Given the description of an element on the screen output the (x, y) to click on. 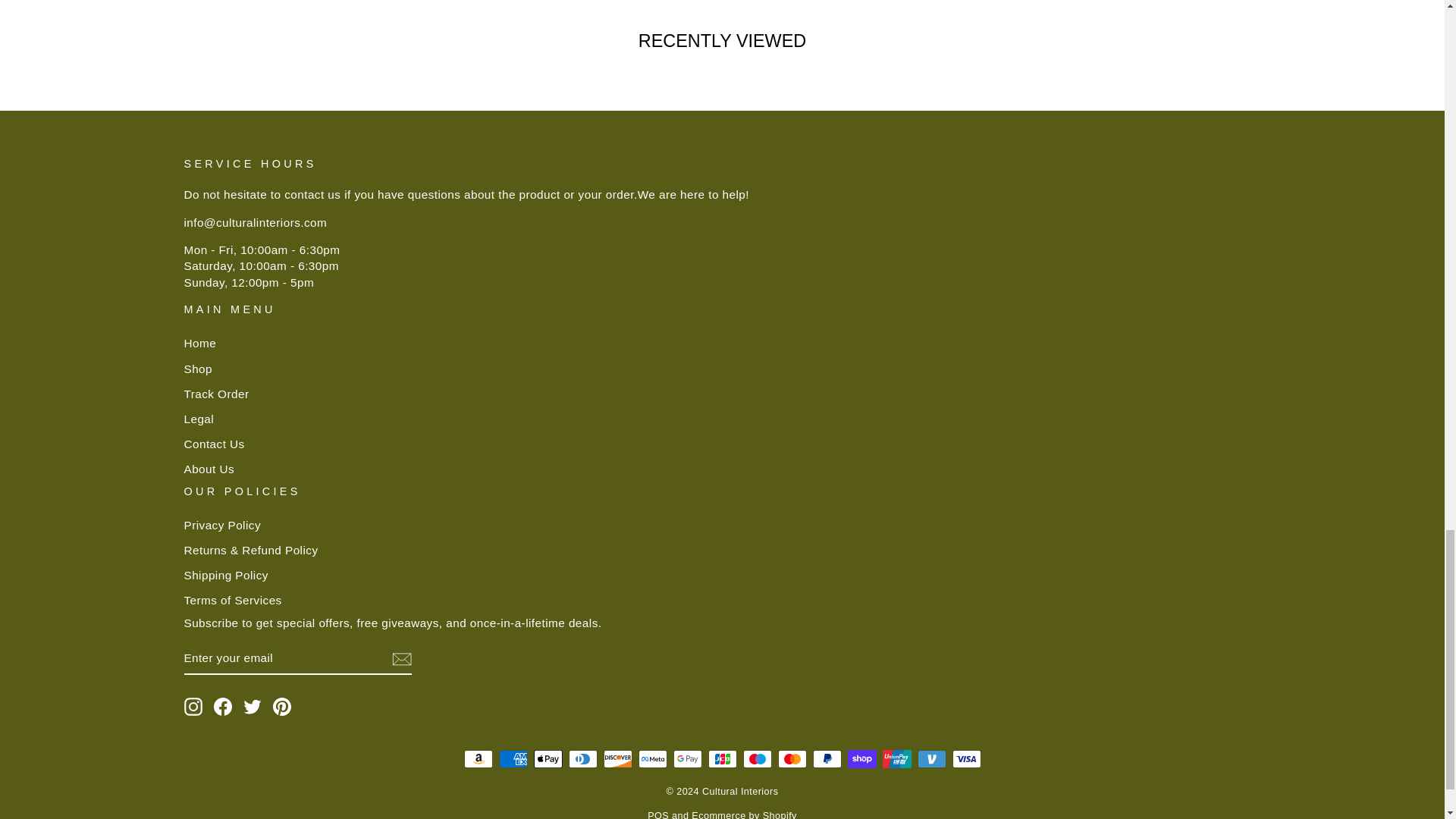
Cultural Interiors on Instagram (192, 706)
Cultural Interiors on Facebook (222, 706)
Cultural Interiors on Twitter (251, 706)
Discover (617, 759)
Apple Pay (548, 759)
Diners Club (582, 759)
American Express (513, 759)
Amazon (478, 759)
Cultural Interiors on Pinterest (282, 706)
